Given the description of an element on the screen output the (x, y) to click on. 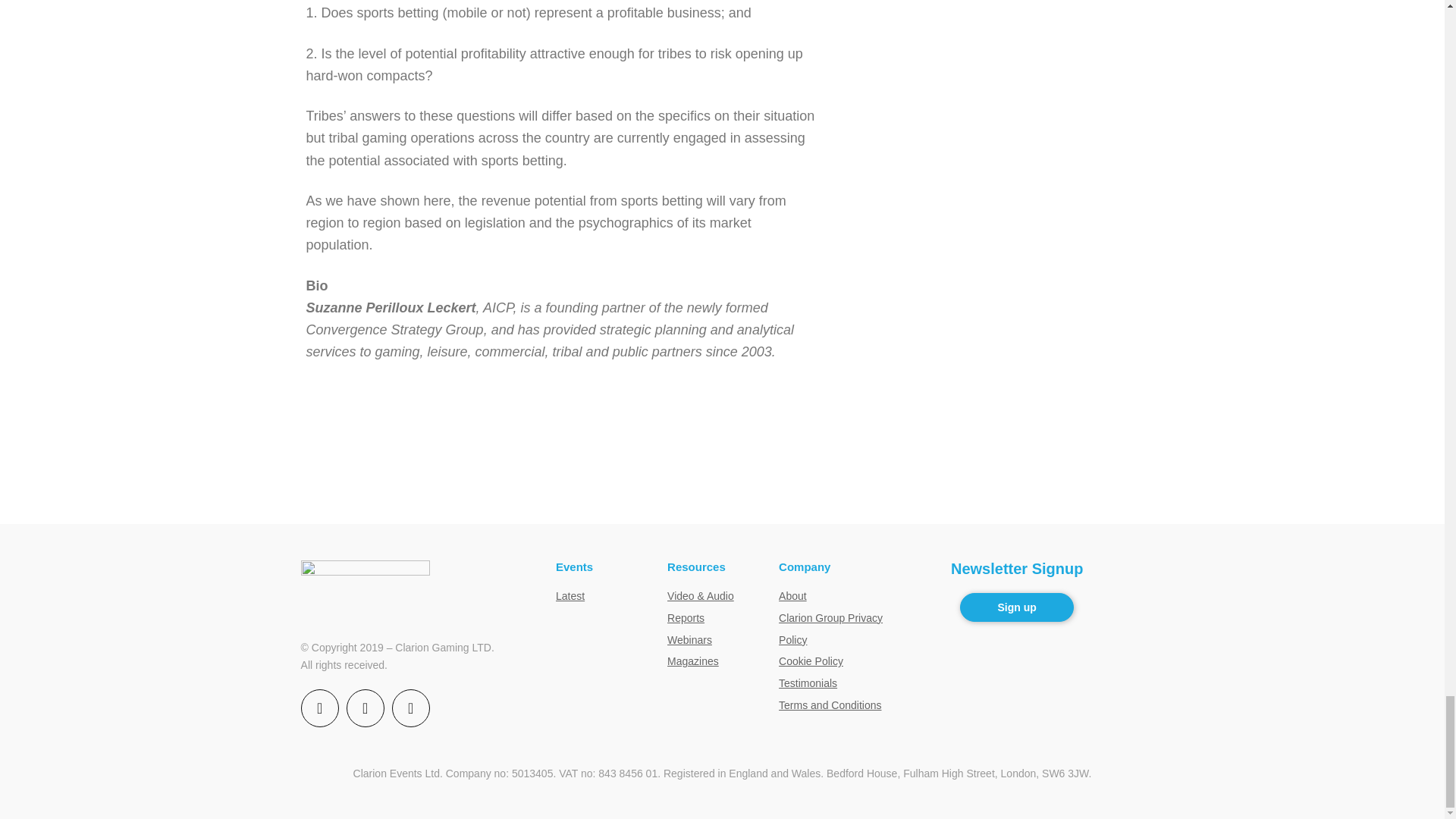
LinkedIn (410, 708)
3rd party ad content (721, 474)
Facebook (320, 708)
Twitter (365, 708)
